Given the description of an element on the screen output the (x, y) to click on. 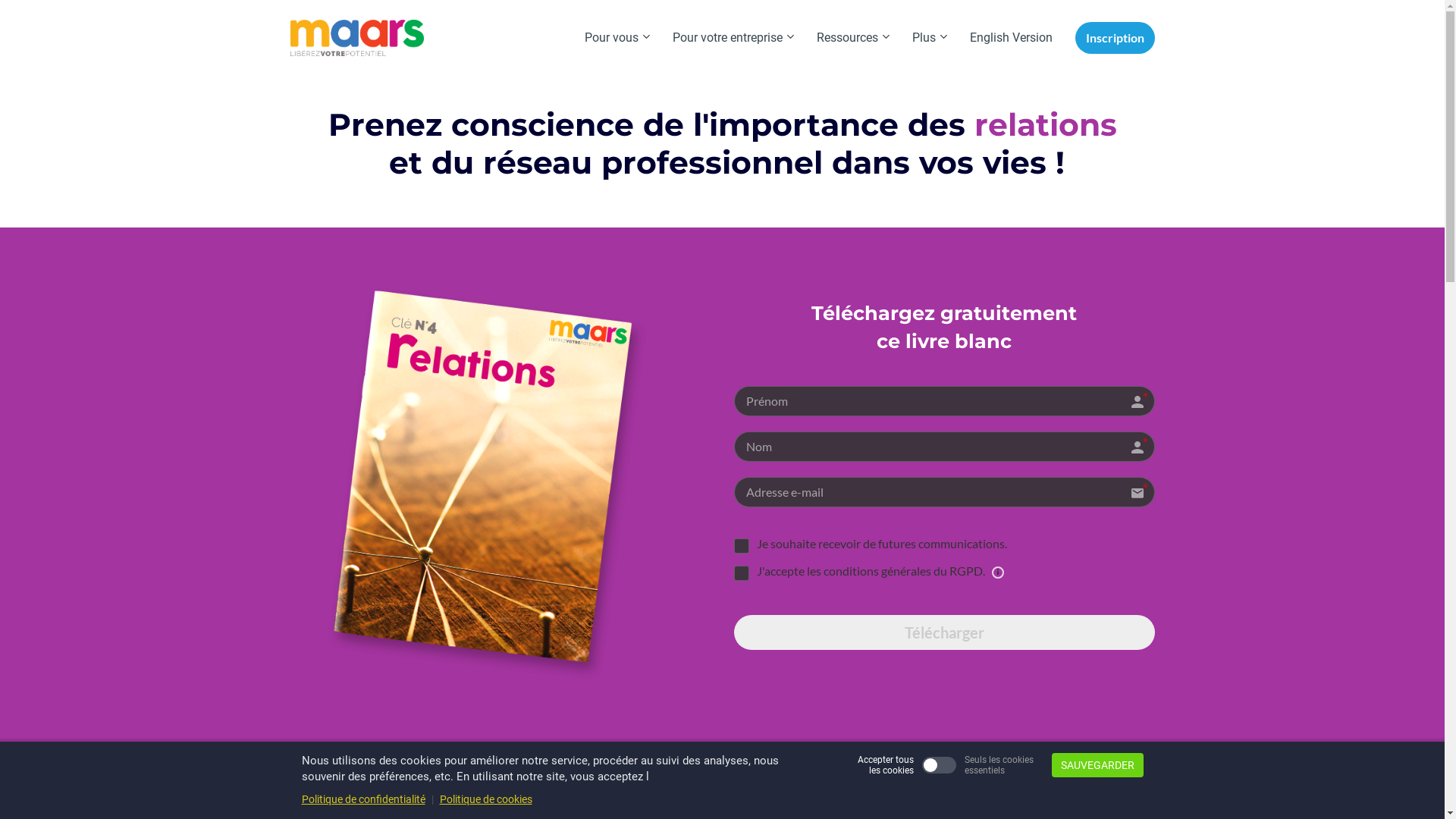
Pour vous Element type: text (617, 37)
English Version Element type: text (1010, 37)
Inscription Element type: text (1114, 37)
Pour votre entreprise Element type: text (733, 37)
Plus Element type: text (929, 37)
SAUVEGARDER Element type: text (1096, 765)
Ressources Element type: text (852, 37)
Politique de cookies Element type: text (485, 799)
